Given the description of an element on the screen output the (x, y) to click on. 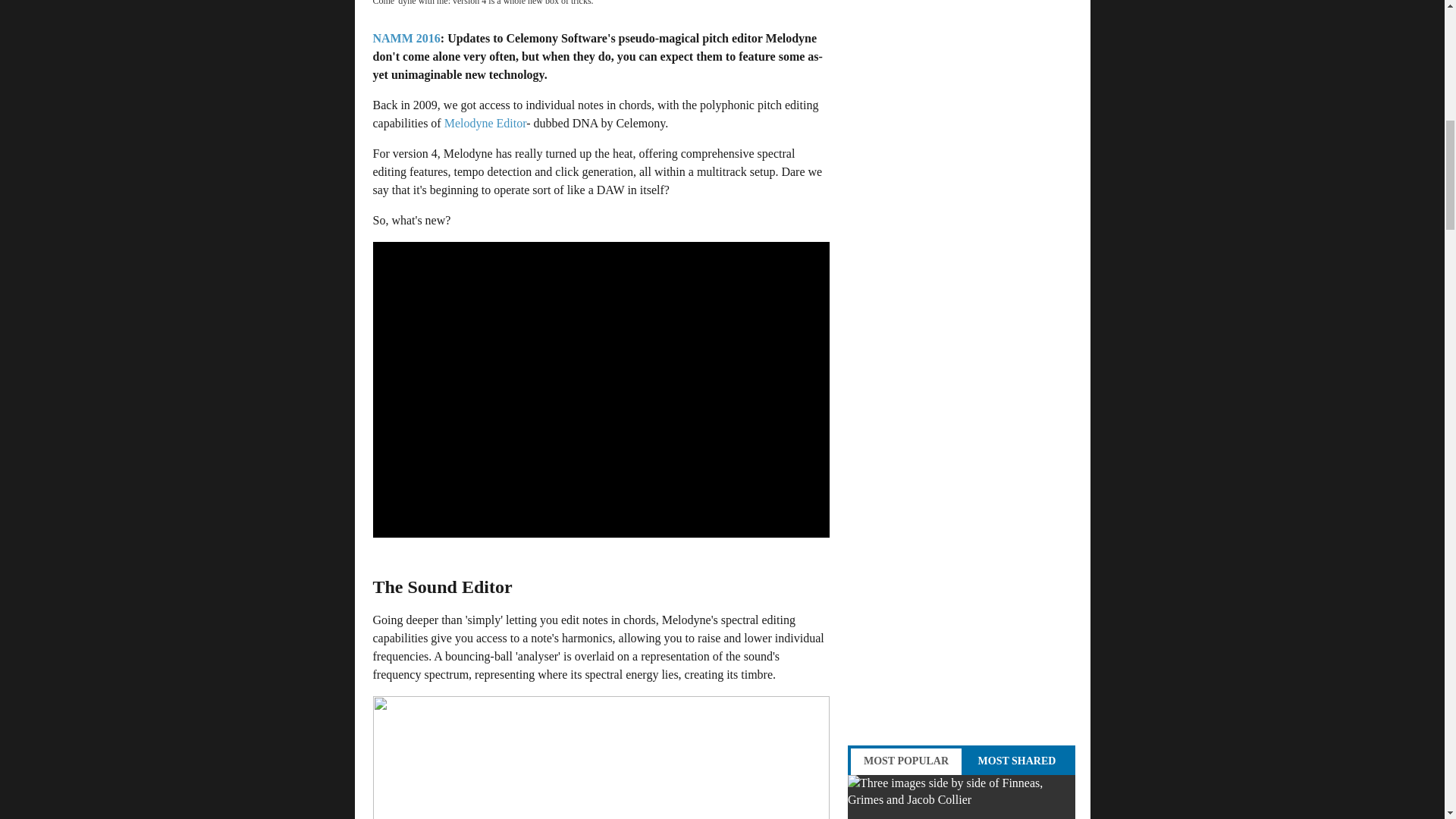
Which audio interfaces do the pros use? (961, 796)
